Given the description of an element on the screen output the (x, y) to click on. 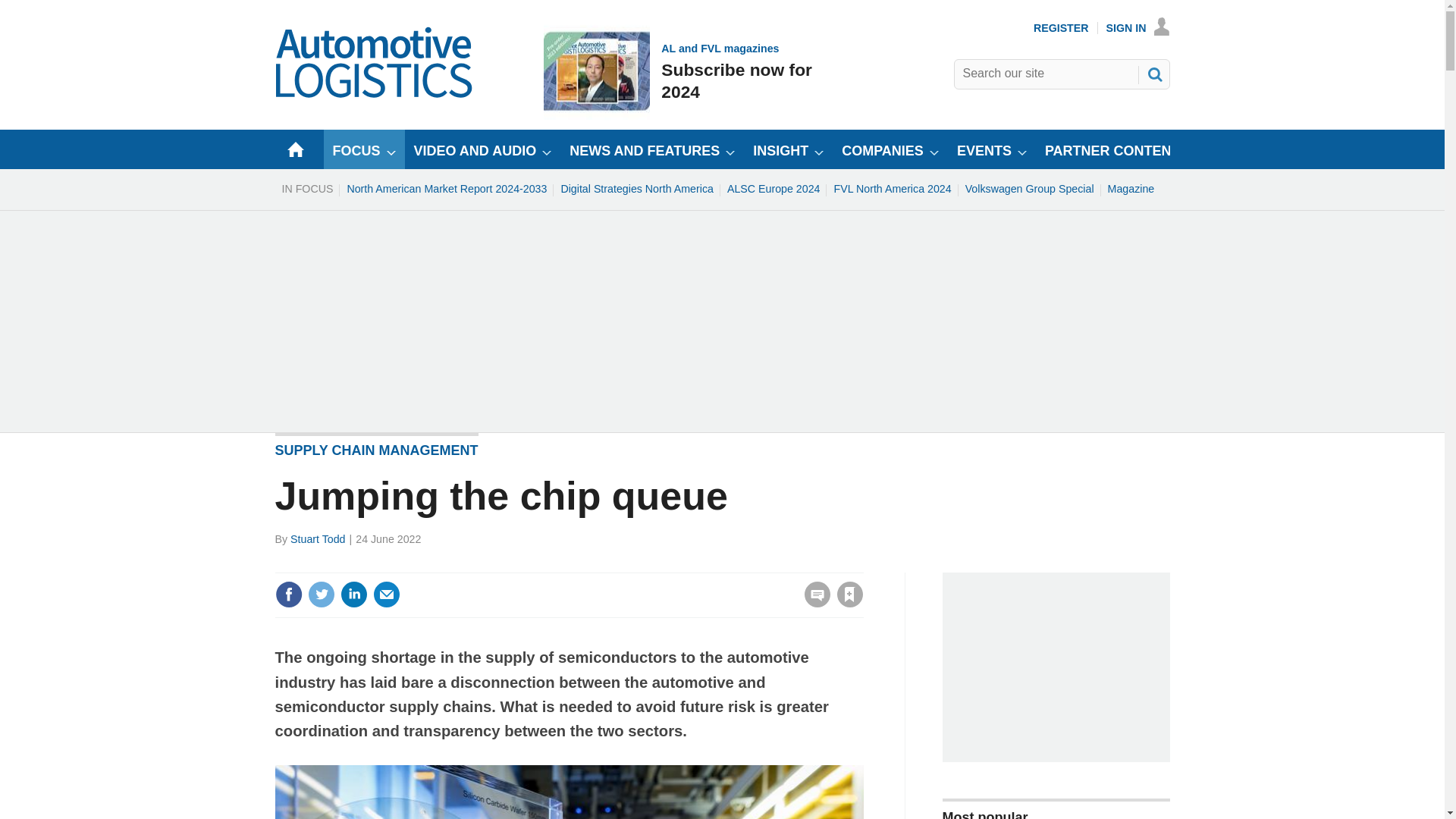
ALSC Europe 2024 (773, 188)
Share this on Linked in (352, 594)
SIGN IN (1138, 28)
REGISTER (1061, 28)
Share this on Facebook (288, 594)
Magazine (679, 70)
Automotive Logistics (1130, 188)
SEARCH (375, 94)
Email this article (1153, 74)
North American Market Report 2024-2033 (386, 594)
3rd party ad content (446, 188)
Volkswagen Group Special (320, 594)
3rd party ad content (1029, 188)
